Given the description of an element on the screen output the (x, y) to click on. 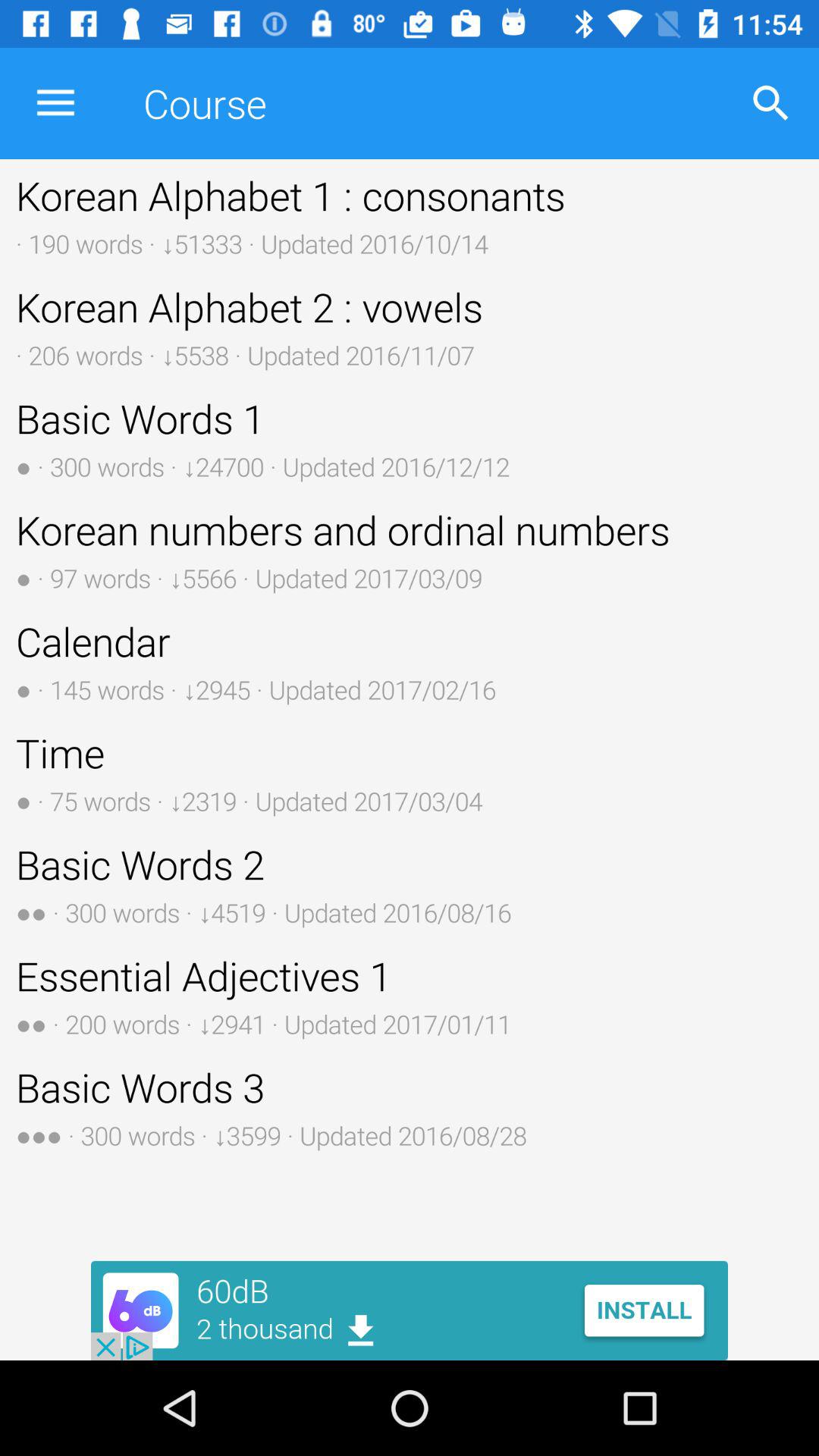
open 60db advertisement (409, 1310)
